Given the description of an element on the screen output the (x, y) to click on. 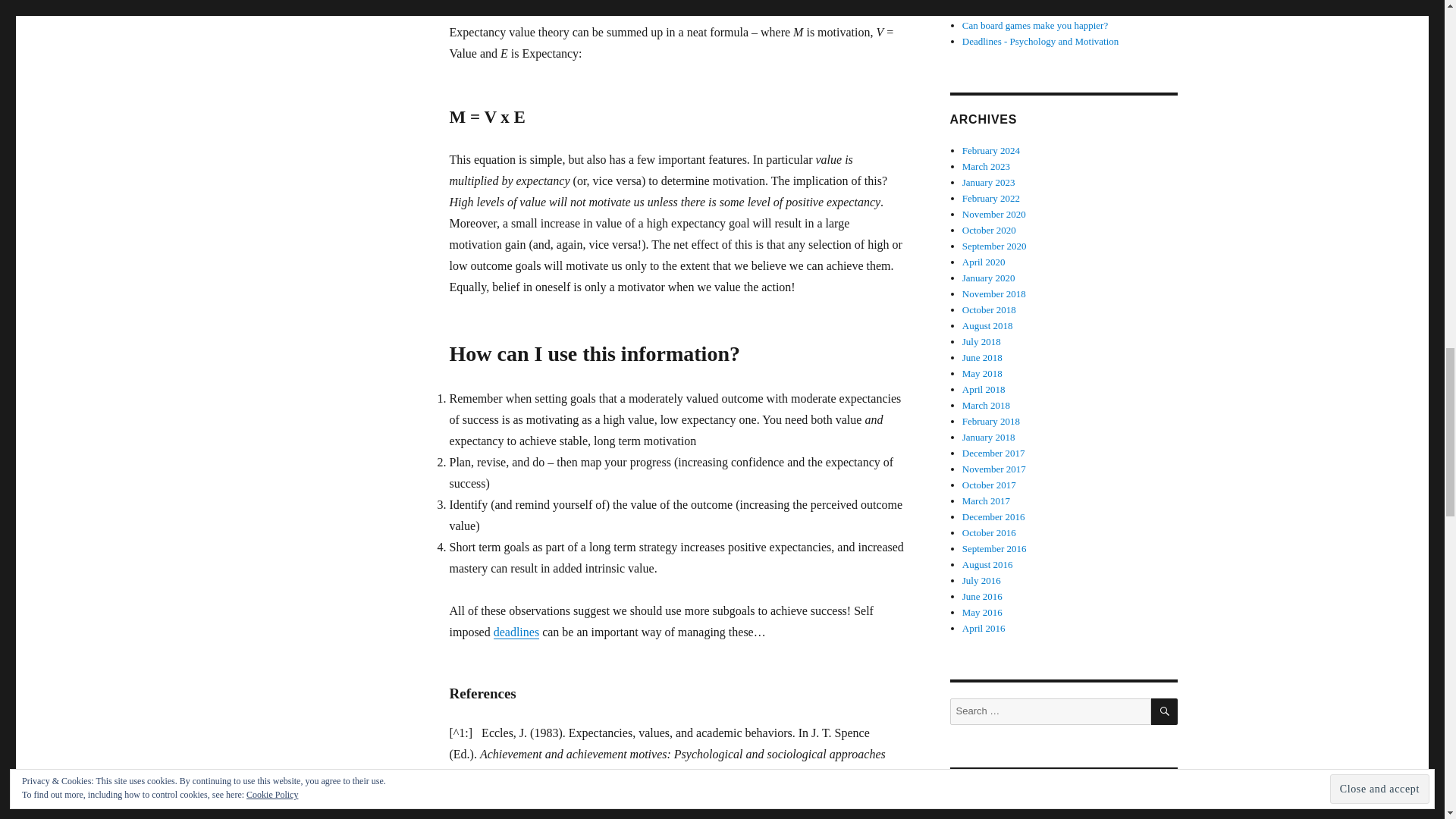
deadlines (515, 631)
